Given the description of an element on the screen output the (x, y) to click on. 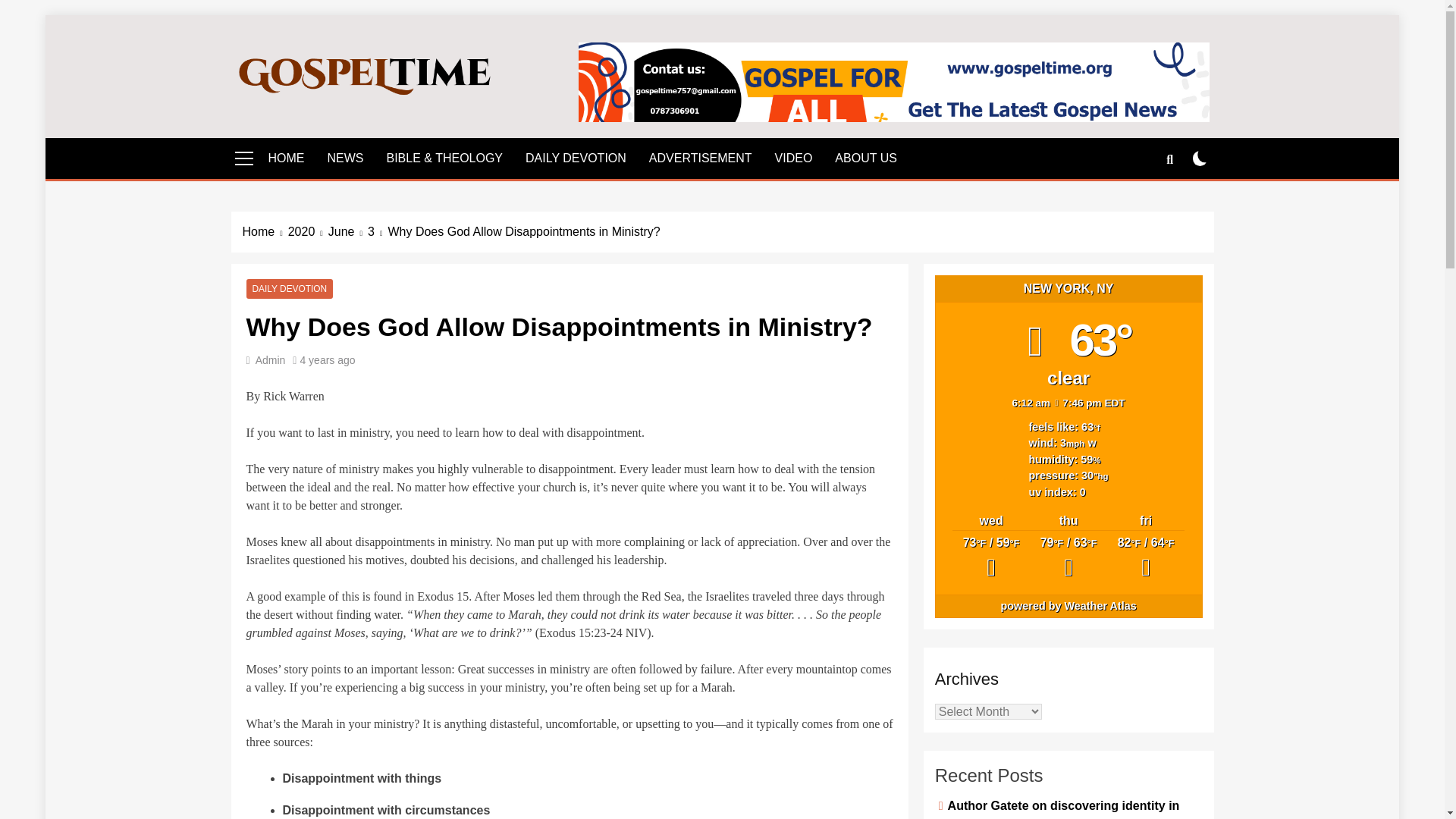
HOME (285, 158)
ABOUT US (866, 158)
DAILY DEVOTION (575, 158)
2020 (308, 231)
3 (377, 231)
on (1199, 157)
ADVERTISEMENT (699, 158)
Mostly Sunny (990, 558)
Mostly Sunny (1067, 558)
